Given the description of an element on the screen output the (x, y) to click on. 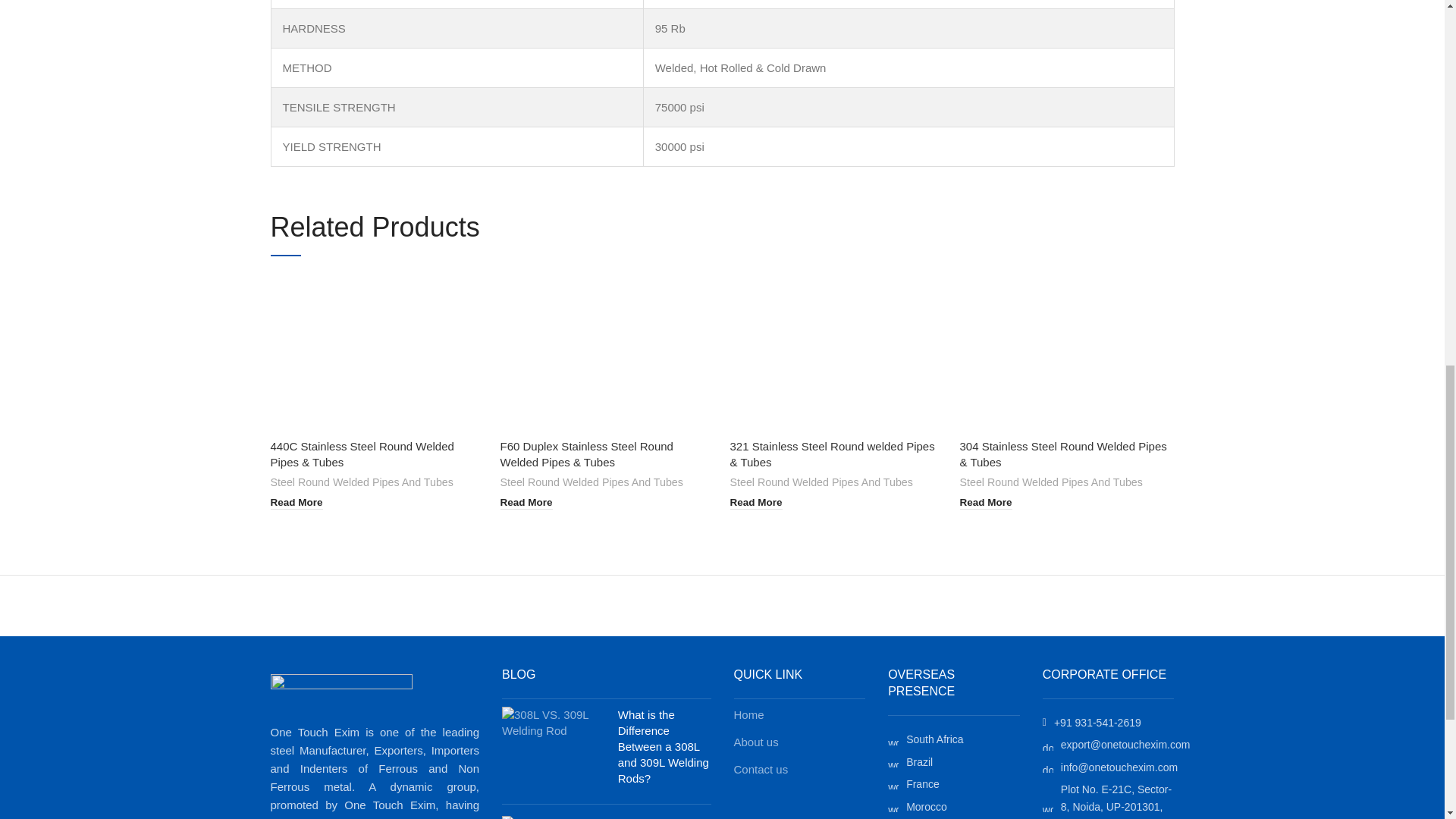
Permalink to What Are The 5 Properties of Mild Steel? (661, 818)
wd-cursor-light (893, 806)
wd-cursor-light (893, 739)
Steel Round Welded Pipes And Tubes (360, 482)
5 Important Properties of Mild Steel (554, 817)
Read More (295, 502)
308L VS. 309L Welding Rod (554, 722)
wd-cursor-light (893, 783)
wd-cursor-light (893, 761)
